Given the description of an element on the screen output the (x, y) to click on. 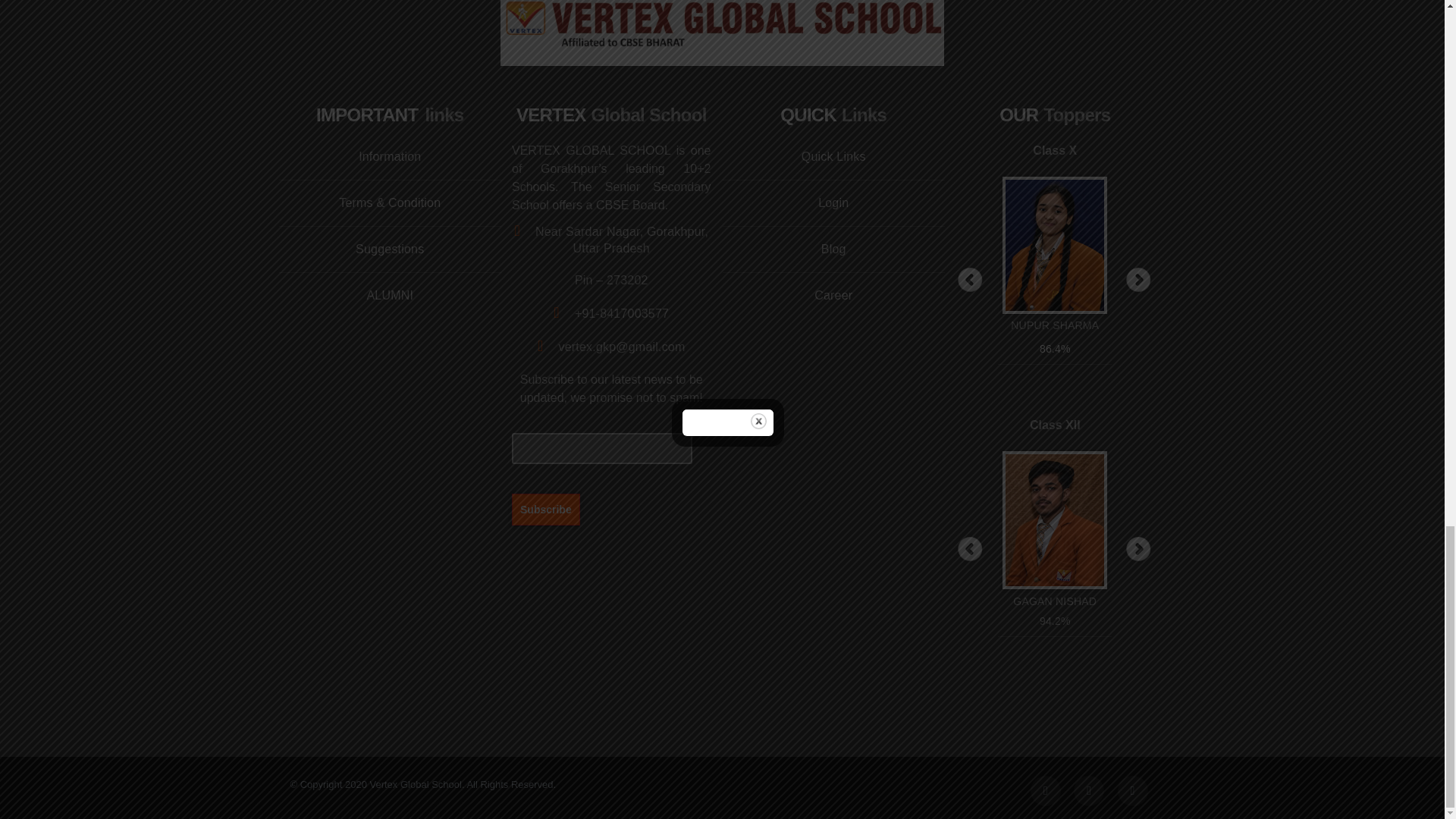
Subscribe (545, 508)
